Given the description of an element on the screen output the (x, y) to click on. 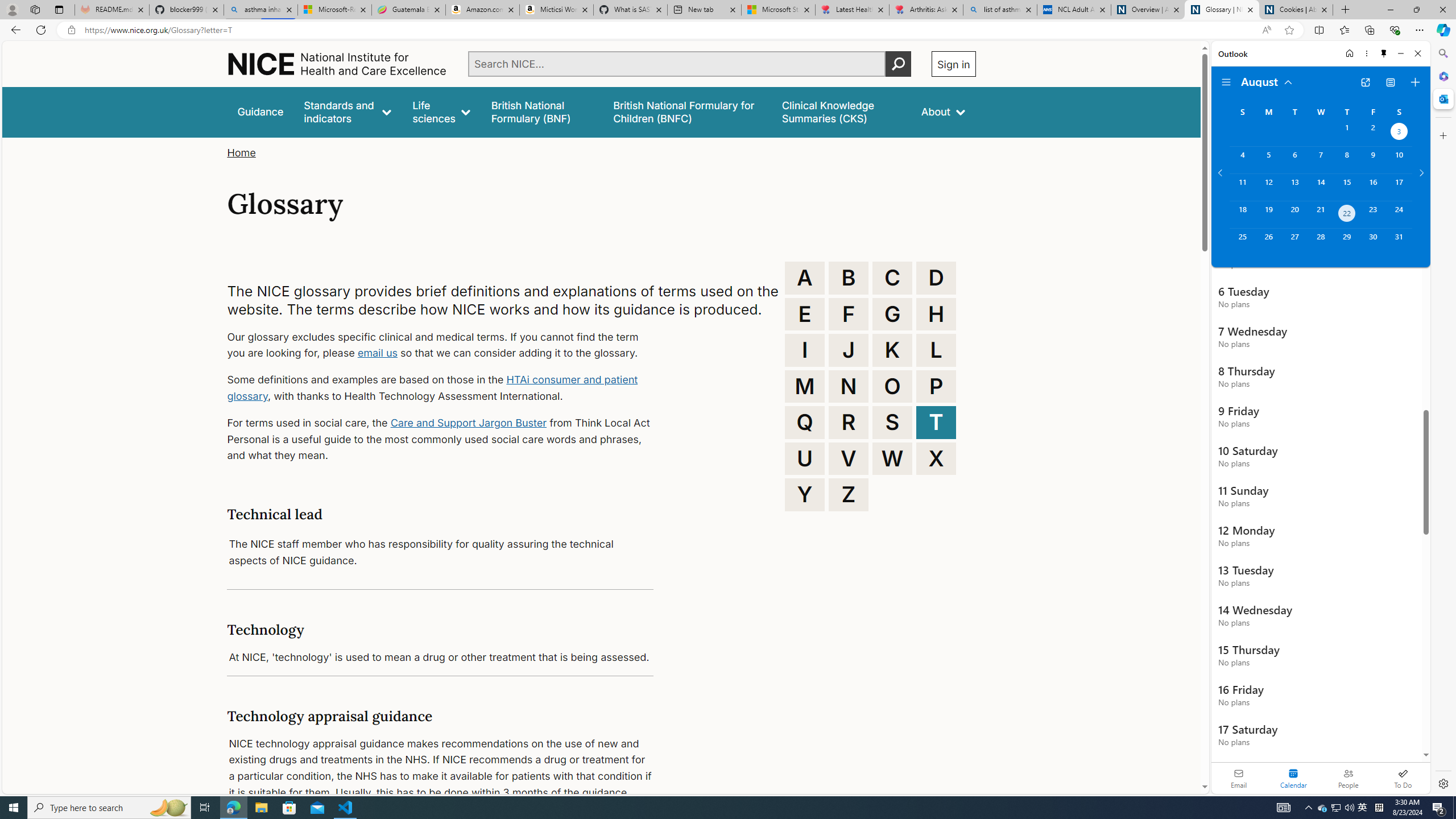
H (935, 313)
Thursday, August 22, 2024. Today.  (1346, 214)
Tuesday, August 27, 2024.  (1294, 241)
Q (804, 422)
Sunday, August 18, 2024.  (1242, 214)
R (848, 422)
N (848, 385)
Cookies | About | NICE (1295, 9)
W (892, 458)
N (848, 385)
Saturday, August 31, 2024.  (1399, 241)
A (804, 277)
